Given the description of an element on the screen output the (x, y) to click on. 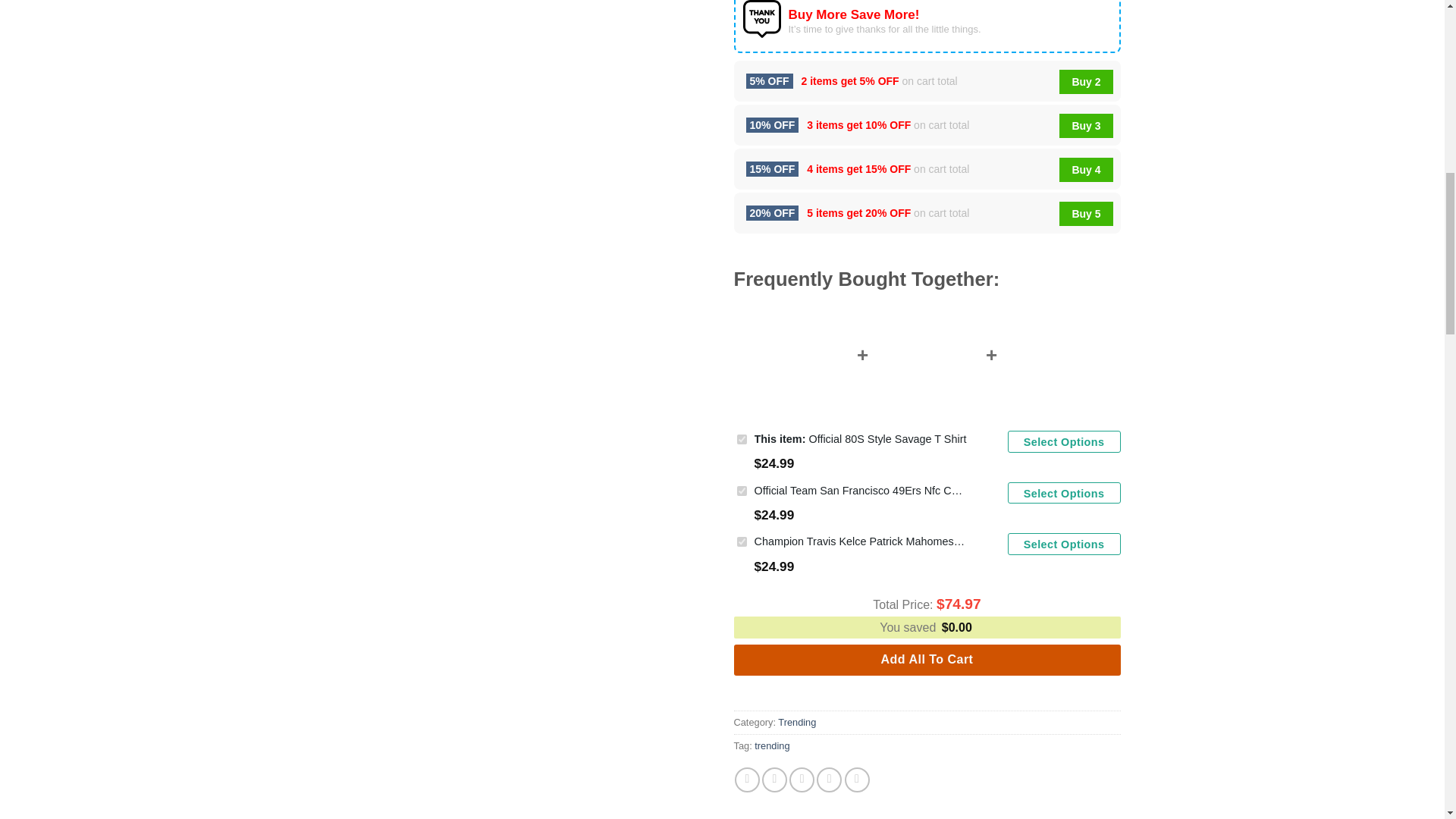
9370 (741, 542)
23271 (741, 439)
9395 (741, 491)
